Given the description of an element on the screen output the (x, y) to click on. 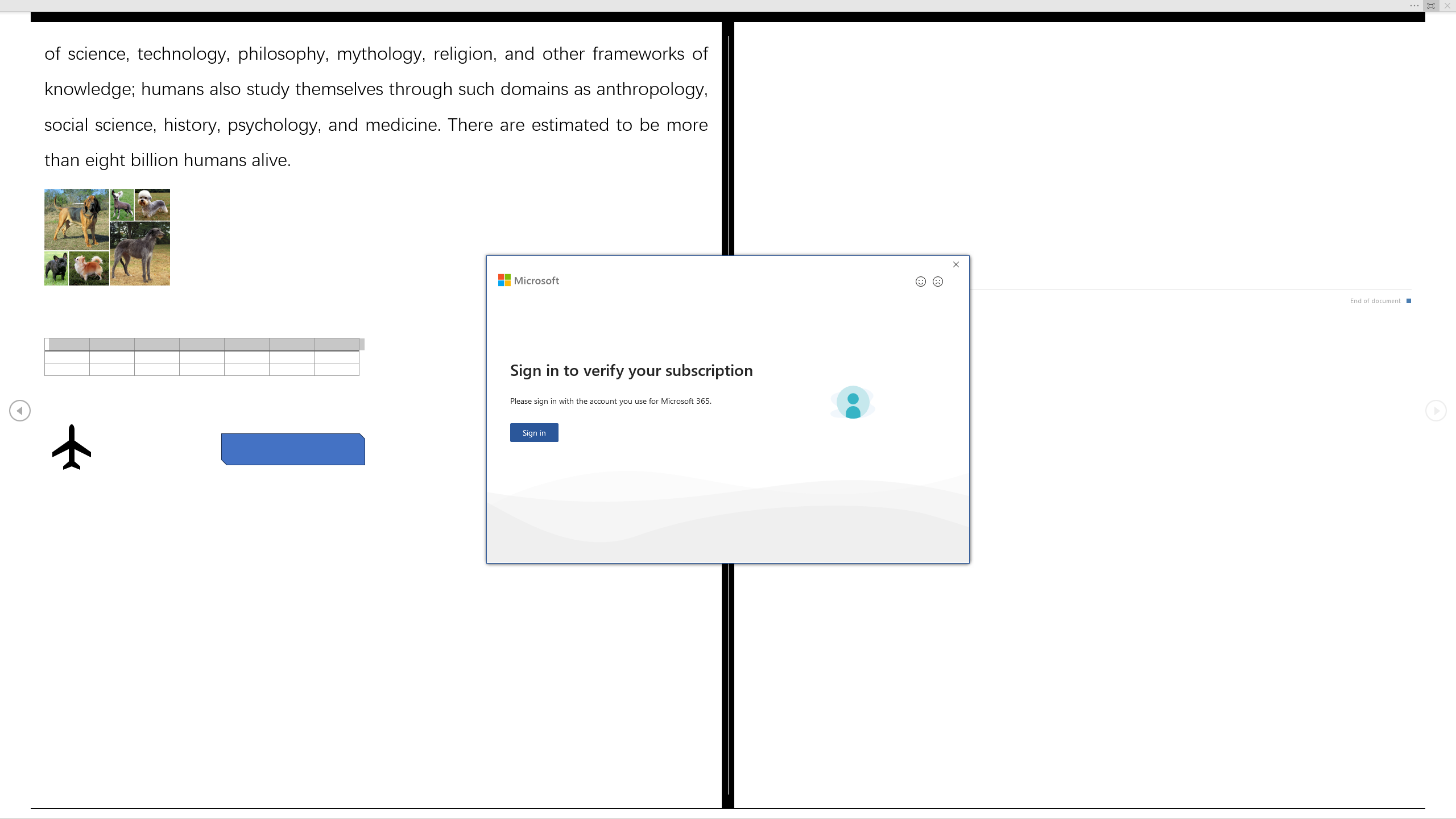
Send a smile for feedback (920, 280)
Always Show Reading Toolbar (1430, 5)
Show the Ribbon (711, 5)
Class: NetUIAnchor (728, 5)
Send a frown for feedback (937, 280)
Sign in (534, 432)
Rectangle: Diagonal Corners Snipped 2 (293, 449)
Morphological variation in six dogs (106, 237)
Airplane with solid fill (71, 446)
